Given the description of an element on the screen output the (x, y) to click on. 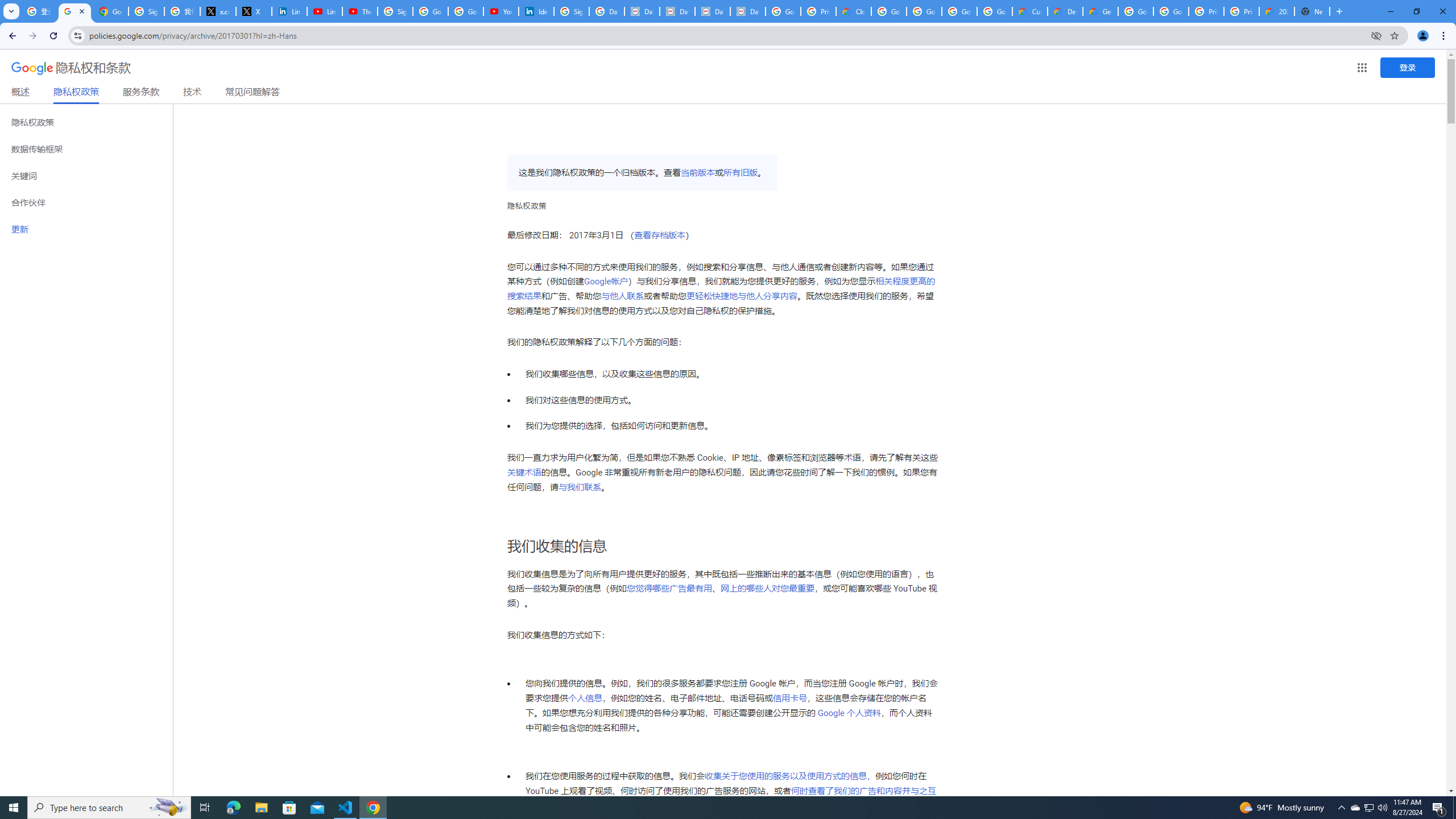
Gemini for Business and Developers | Google Cloud (1099, 11)
LinkedIn Privacy Policy (288, 11)
